Given the description of an element on the screen output the (x, y) to click on. 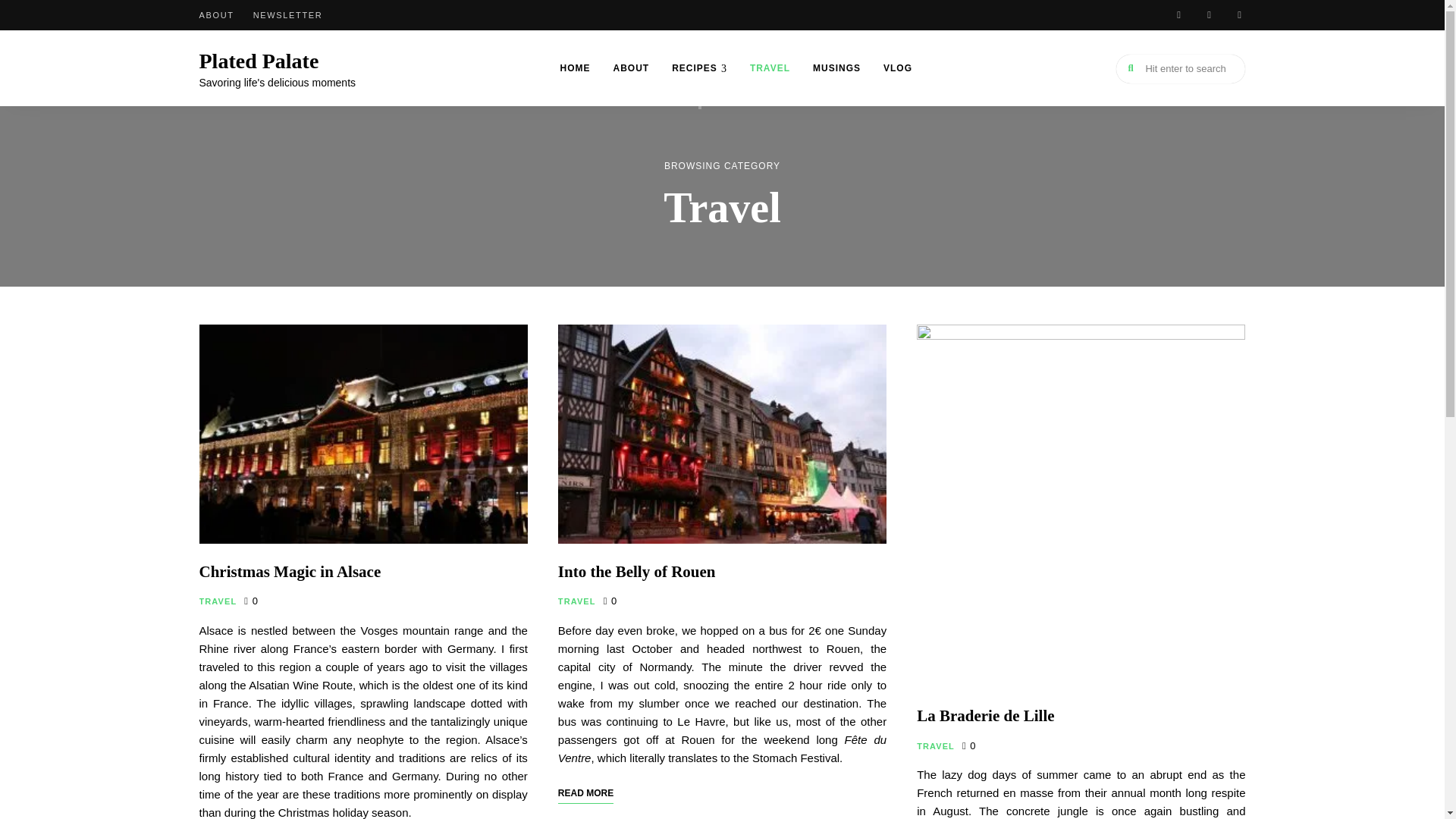
pinterest (1238, 15)
TRAVEL (576, 602)
NEWSLETTER (288, 15)
RECIPES (699, 68)
instagram (1178, 15)
twitter (1208, 15)
Christmas Magic in Alsace (289, 571)
Into the Belly of Rouen (636, 571)
MUSINGS (837, 68)
ABOUT (215, 15)
